Given the description of an element on the screen output the (x, y) to click on. 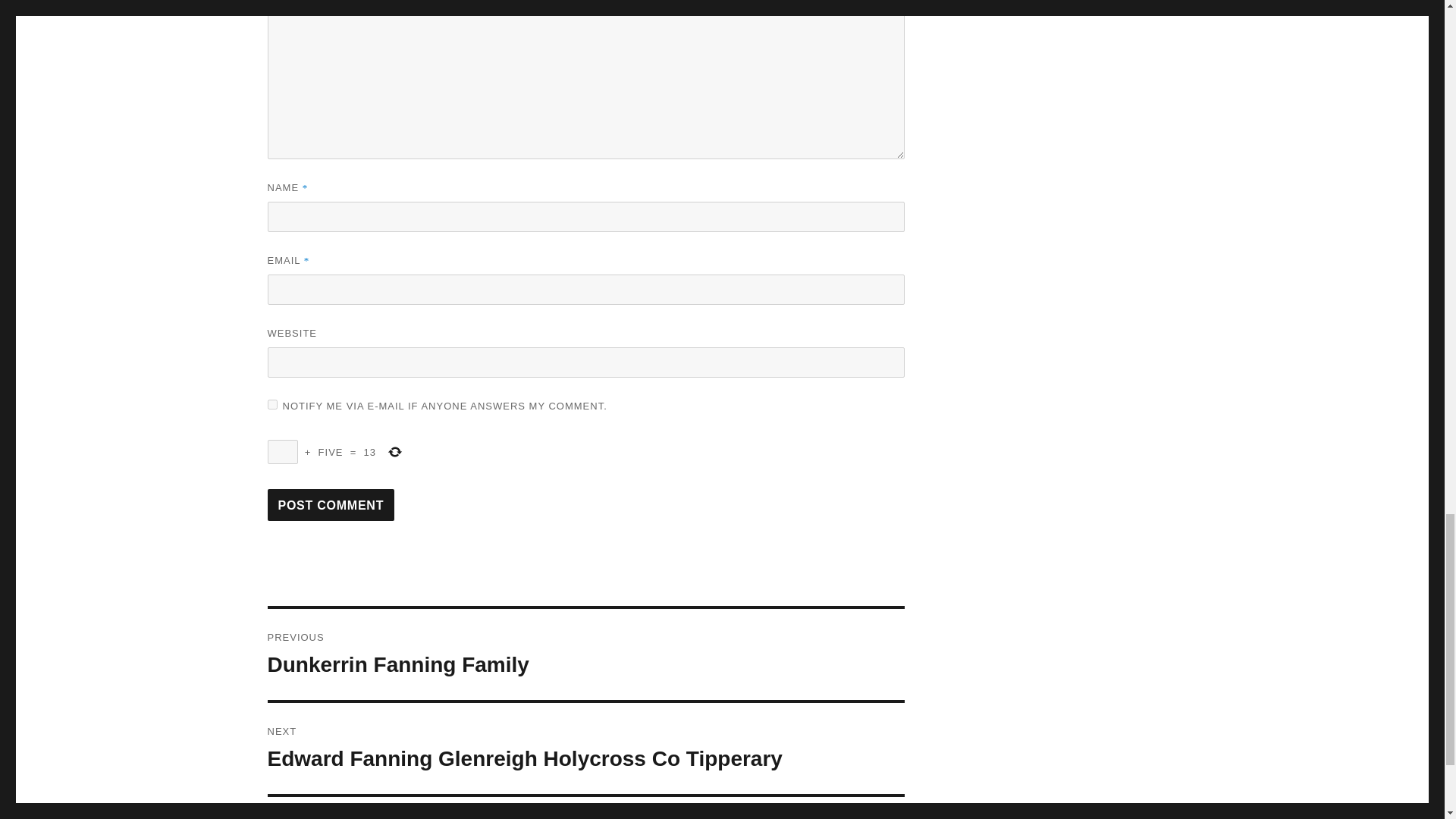
Post Comment (330, 504)
on (271, 404)
